Given the description of an element on the screen output the (x, y) to click on. 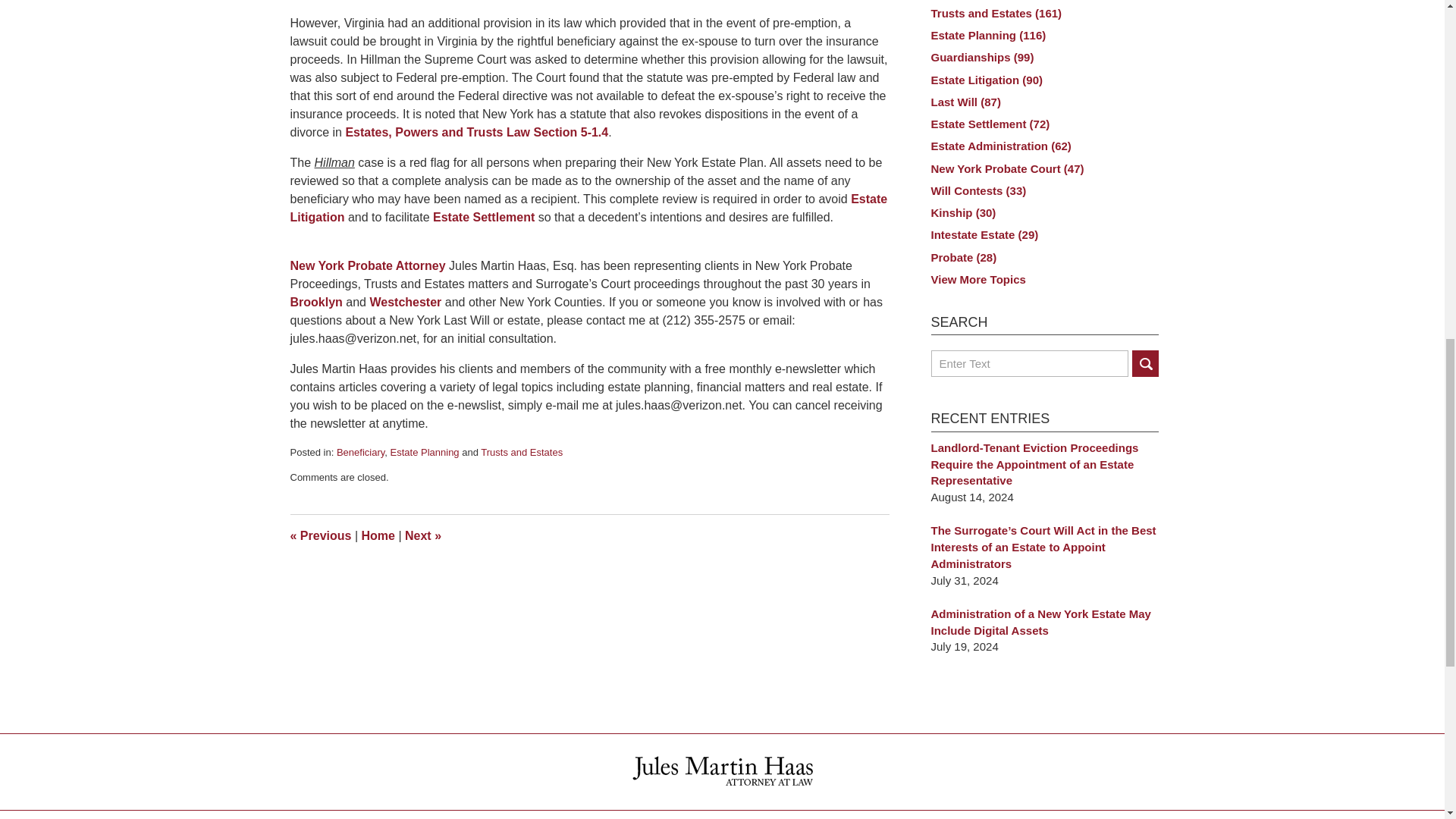
New York Probate Attorney (368, 265)
Estate Settlement (483, 216)
Beneficiary (360, 451)
Westchester (405, 301)
View all posts in Beneficiary (360, 451)
Estates, Powers and Trusts Law Section 5-1.4 (476, 132)
Trusts and Estates (521, 451)
Estate Litigation (587, 207)
View all posts in Estate Planning (425, 451)
